Given the description of an element on the screen output the (x, y) to click on. 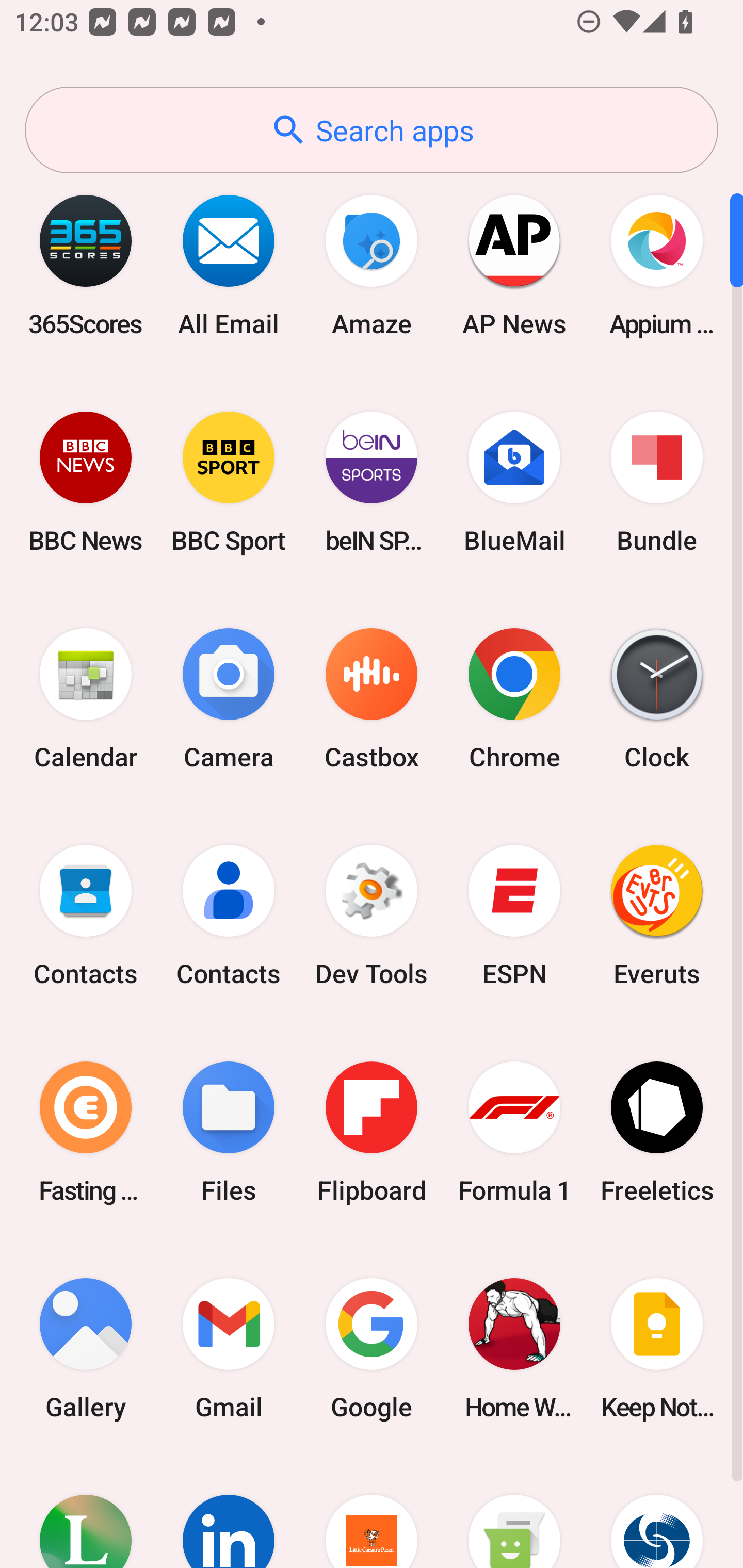
  Search apps (371, 130)
365Scores (85, 264)
All Email (228, 264)
Amaze (371, 264)
AP News (514, 264)
Appium Settings (656, 264)
BBC News (85, 482)
BBC Sport (228, 482)
beIN SPORTS (371, 482)
BlueMail (514, 482)
Bundle (656, 482)
Calendar (85, 699)
Camera (228, 699)
Castbox (371, 699)
Chrome (514, 699)
Clock (656, 699)
Contacts (85, 915)
Contacts (228, 915)
Dev Tools (371, 915)
ESPN (514, 915)
Everuts (656, 915)
Fasting Coach (85, 1131)
Files (228, 1131)
Flipboard (371, 1131)
Formula 1 (514, 1131)
Freeletics (656, 1131)
Gallery (85, 1348)
Gmail (228, 1348)
Google (371, 1348)
Home Workout (514, 1348)
Keep Notes (656, 1348)
